Given the description of an element on the screen output the (x, y) to click on. 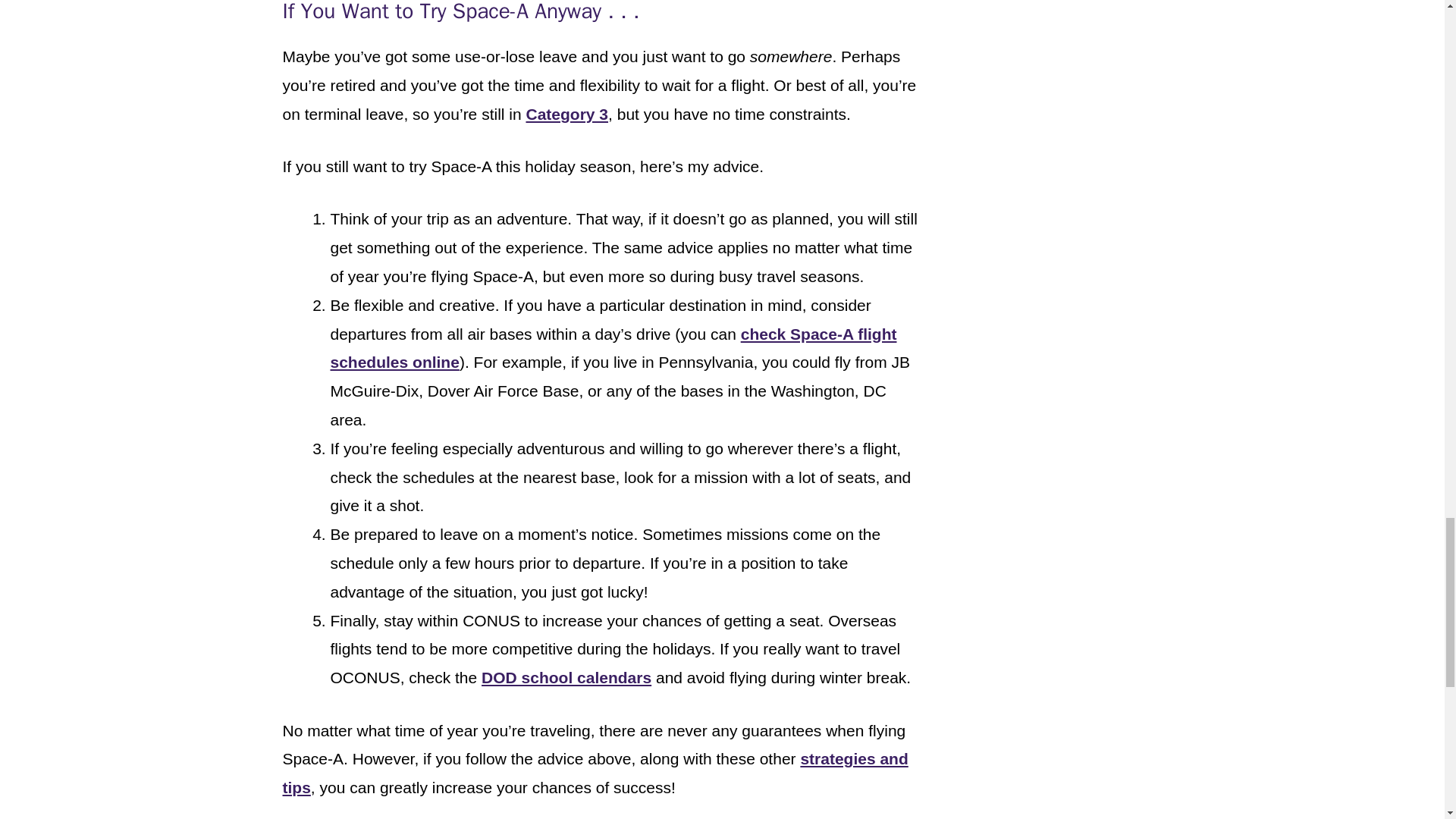
DOD school calendars (565, 677)
Category 3 (566, 113)
strategies and tips (594, 773)
check Space-A flight schedules online (613, 348)
